Given the description of an element on the screen output the (x, y) to click on. 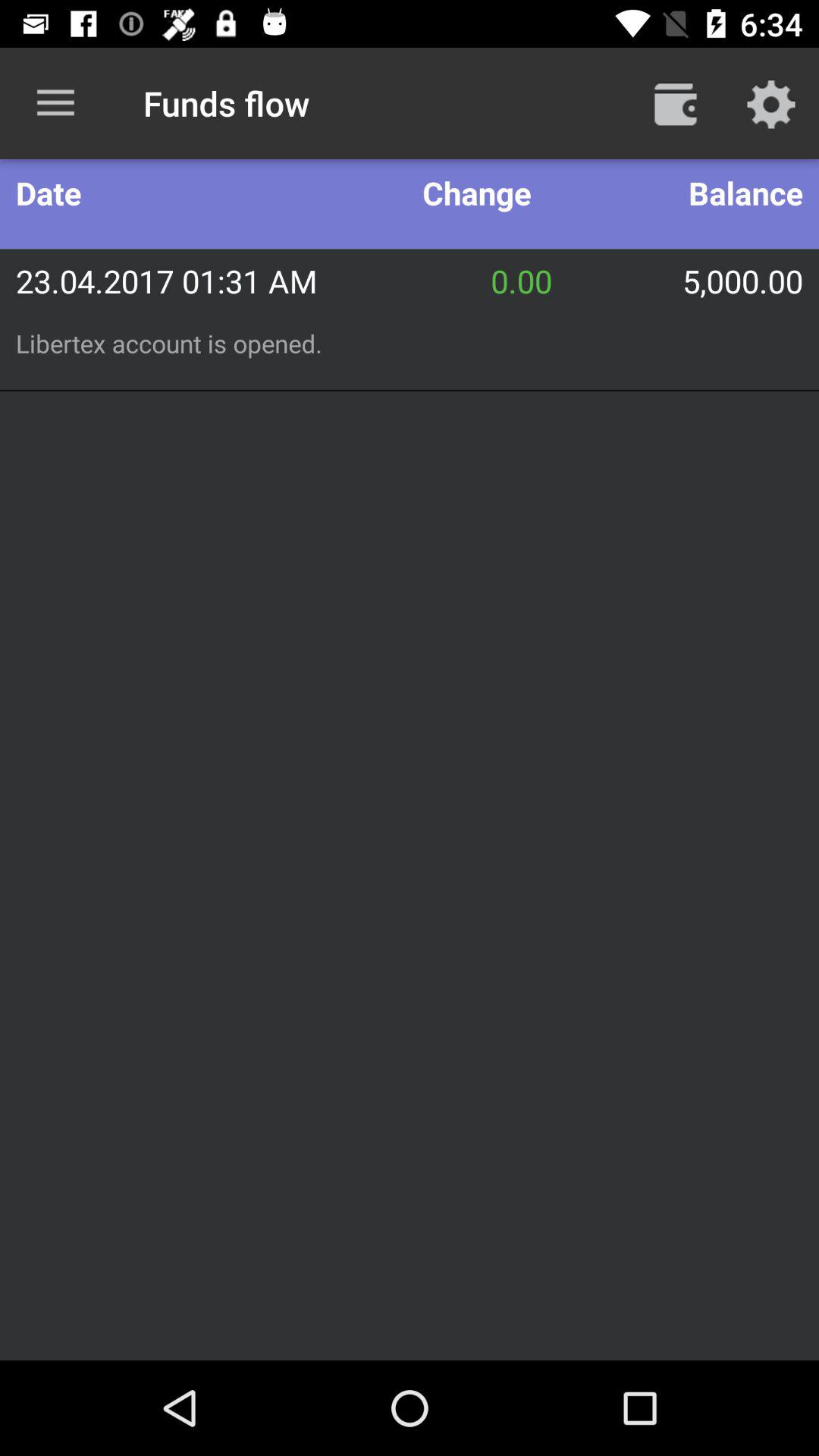
open item next to the funds flow item (55, 103)
